Given the description of an element on the screen output the (x, y) to click on. 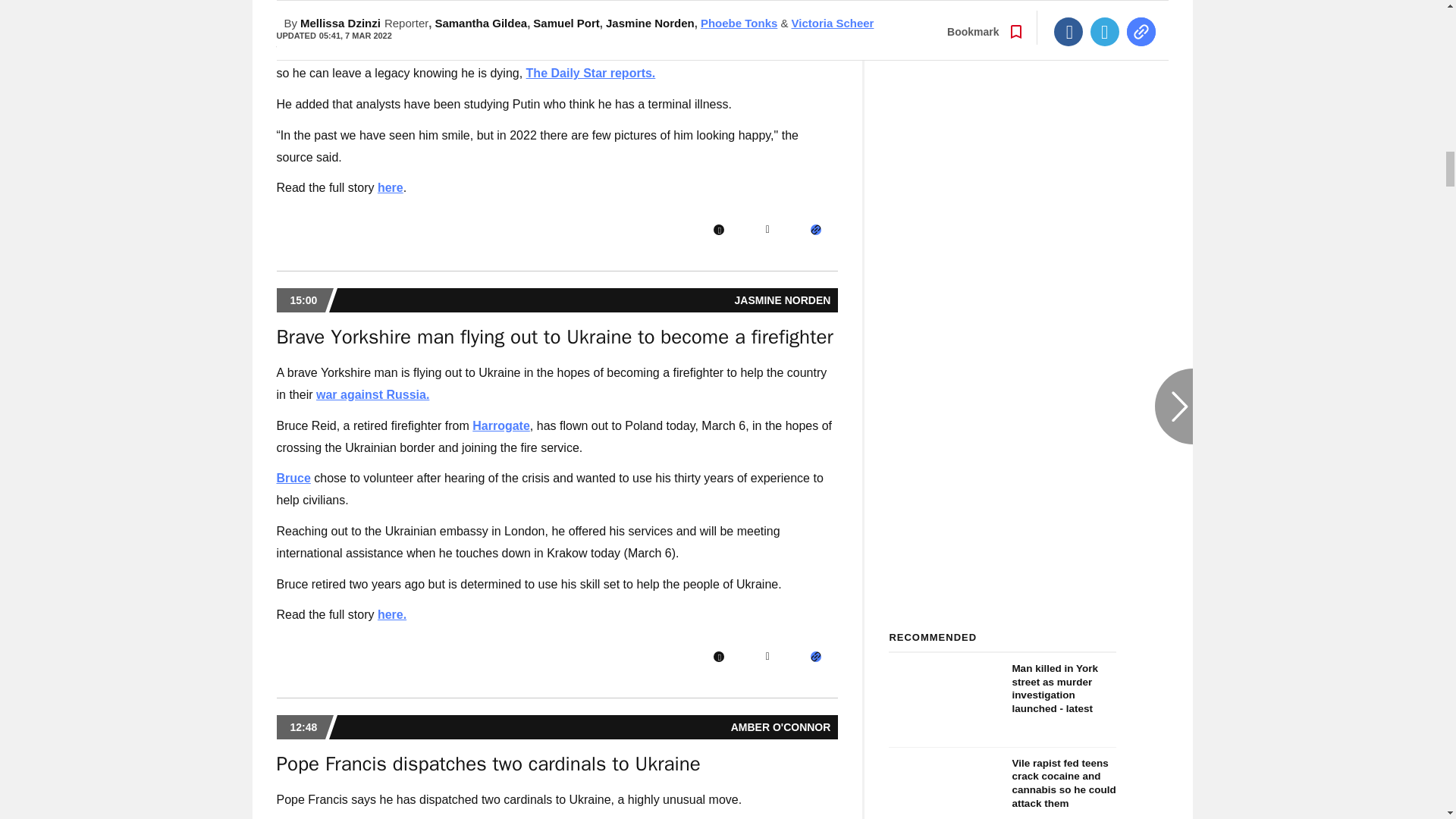
Facebook (718, 656)
Facebook (718, 229)
Twitter (767, 656)
Twitter (767, 229)
